Given the description of an element on the screen output the (x, y) to click on. 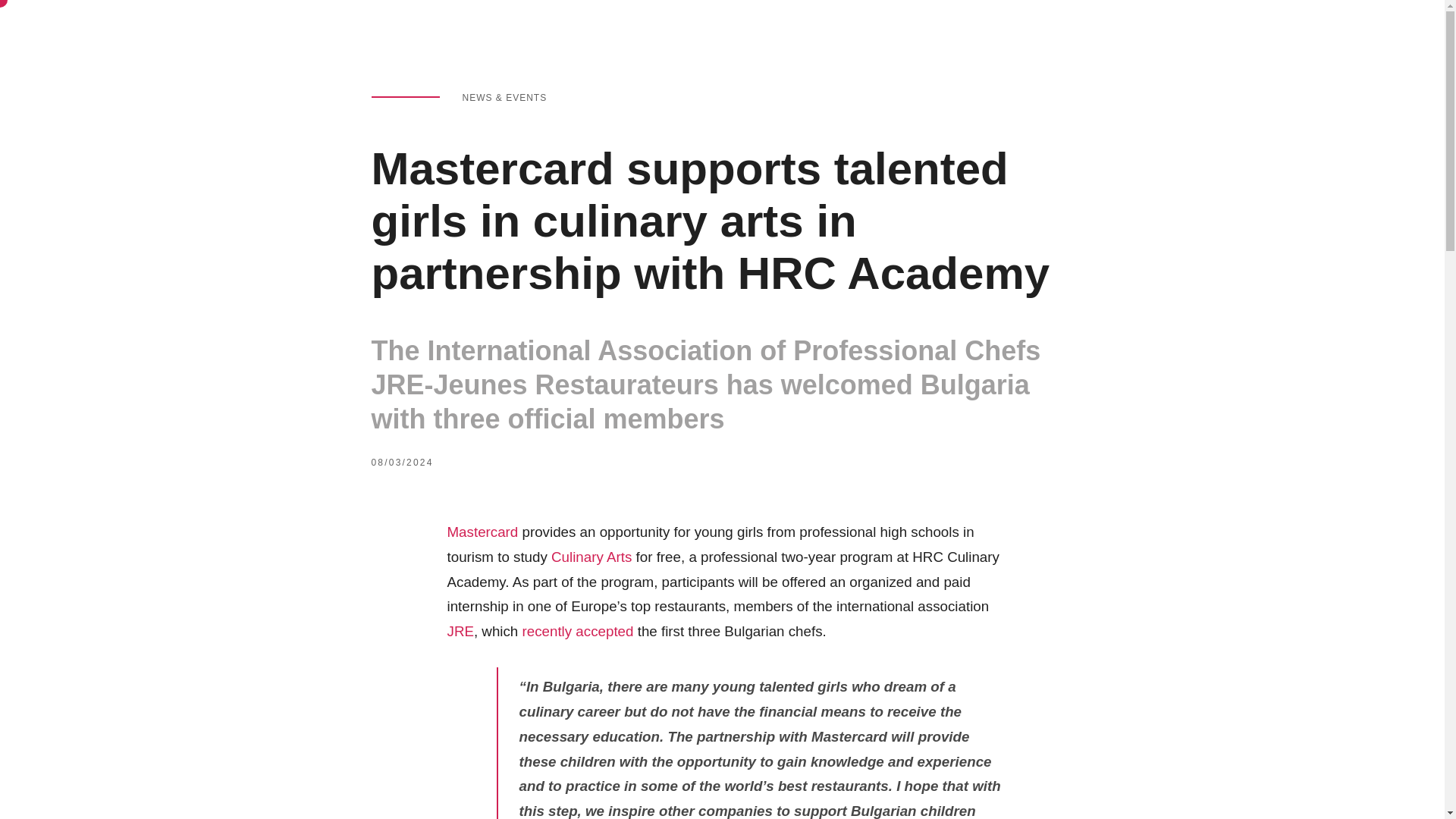
Mastercard (482, 531)
JRE (460, 631)
Culinary Arts (591, 556)
